Given the description of an element on the screen output the (x, y) to click on. 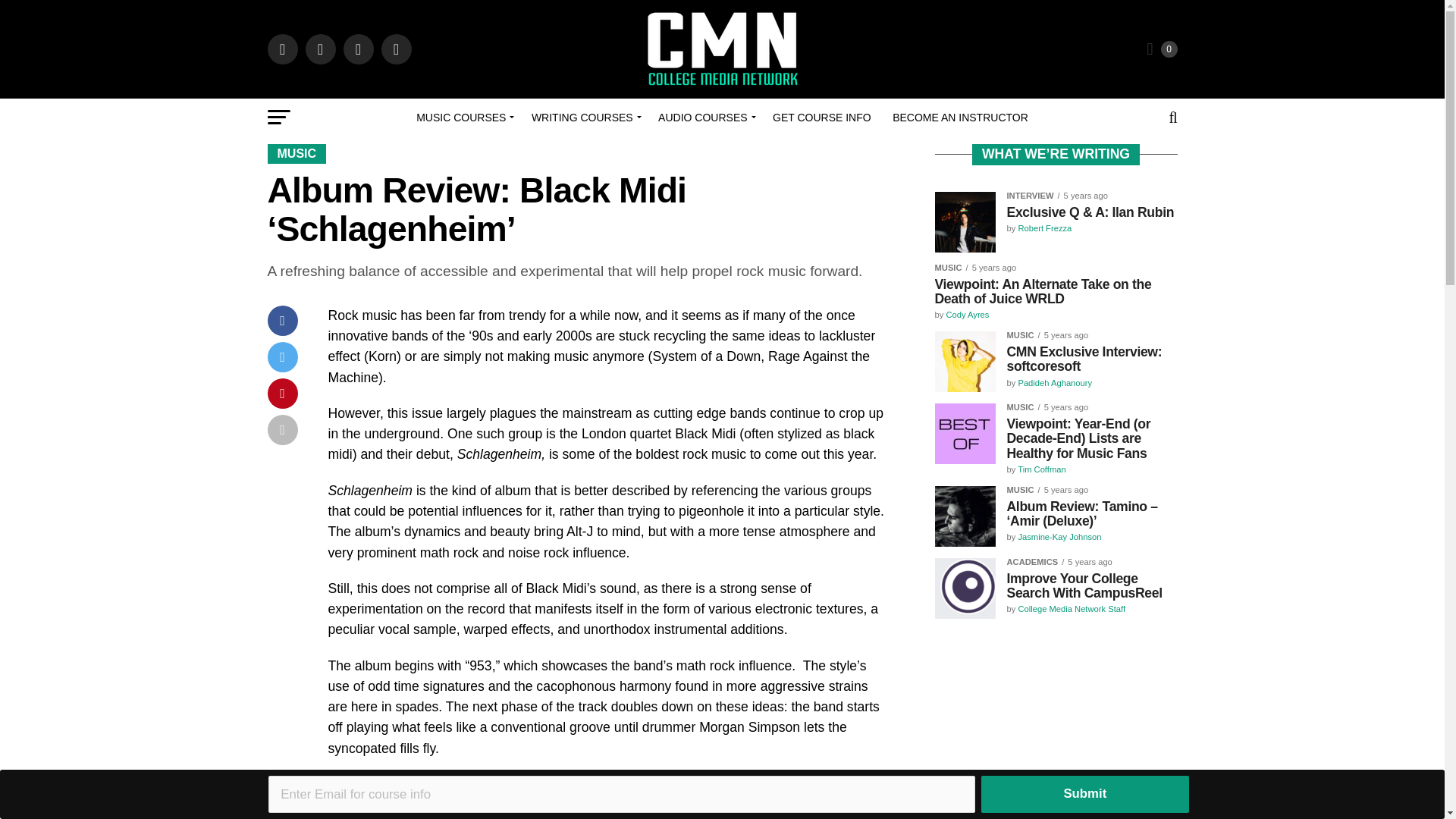
Posts by Jasmine-Kay Johnson (1058, 536)
AUDIO COURSES (704, 117)
Posts by Padideh Aghanoury (1054, 382)
Posts by Tim Coffman (1041, 469)
Posts by Robert Frezza (1044, 227)
GET COURSE INFO (821, 117)
MUSIC COURSES (462, 117)
WRITING COURSES (584, 117)
Viewpoint: An Alternate Take on the Death of Juice WRLD (1055, 292)
Posts by Cody Ayres (966, 314)
Posts by College Media Network Staff (1071, 608)
Robert Frezza (1044, 227)
BECOME AN INSTRUCTOR (959, 117)
